Given the description of an element on the screen output the (x, y) to click on. 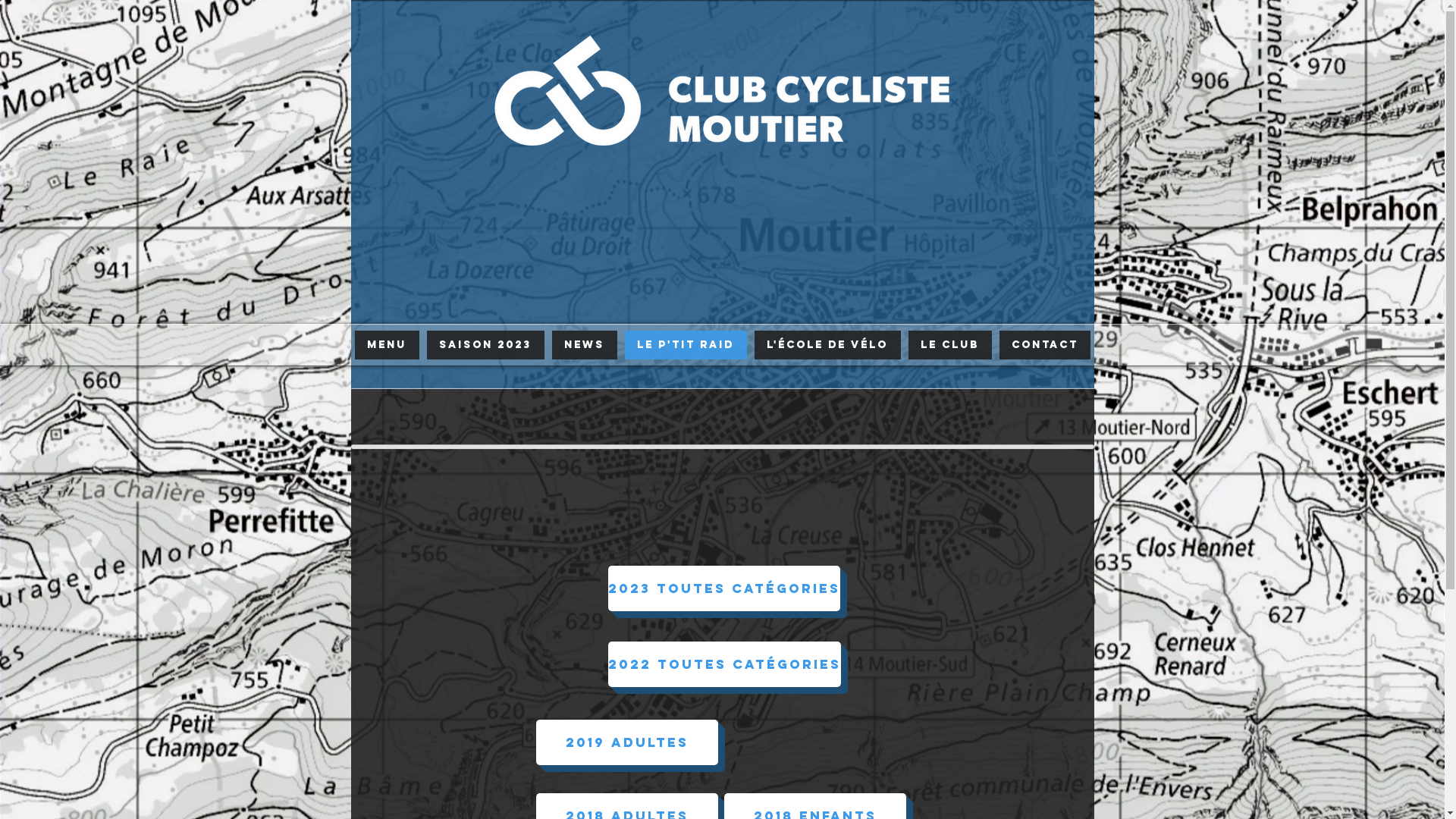
LE CLUB Element type: text (949, 344)
MENU Element type: text (386, 344)
LE P'TIT RAID Element type: text (685, 344)
NEWS Element type: text (584, 344)
SAISON 2023 Element type: text (484, 344)
CONTACT Element type: text (1044, 344)
2019 Adultes Element type: text (626, 742)
